Given the description of an element on the screen output the (x, y) to click on. 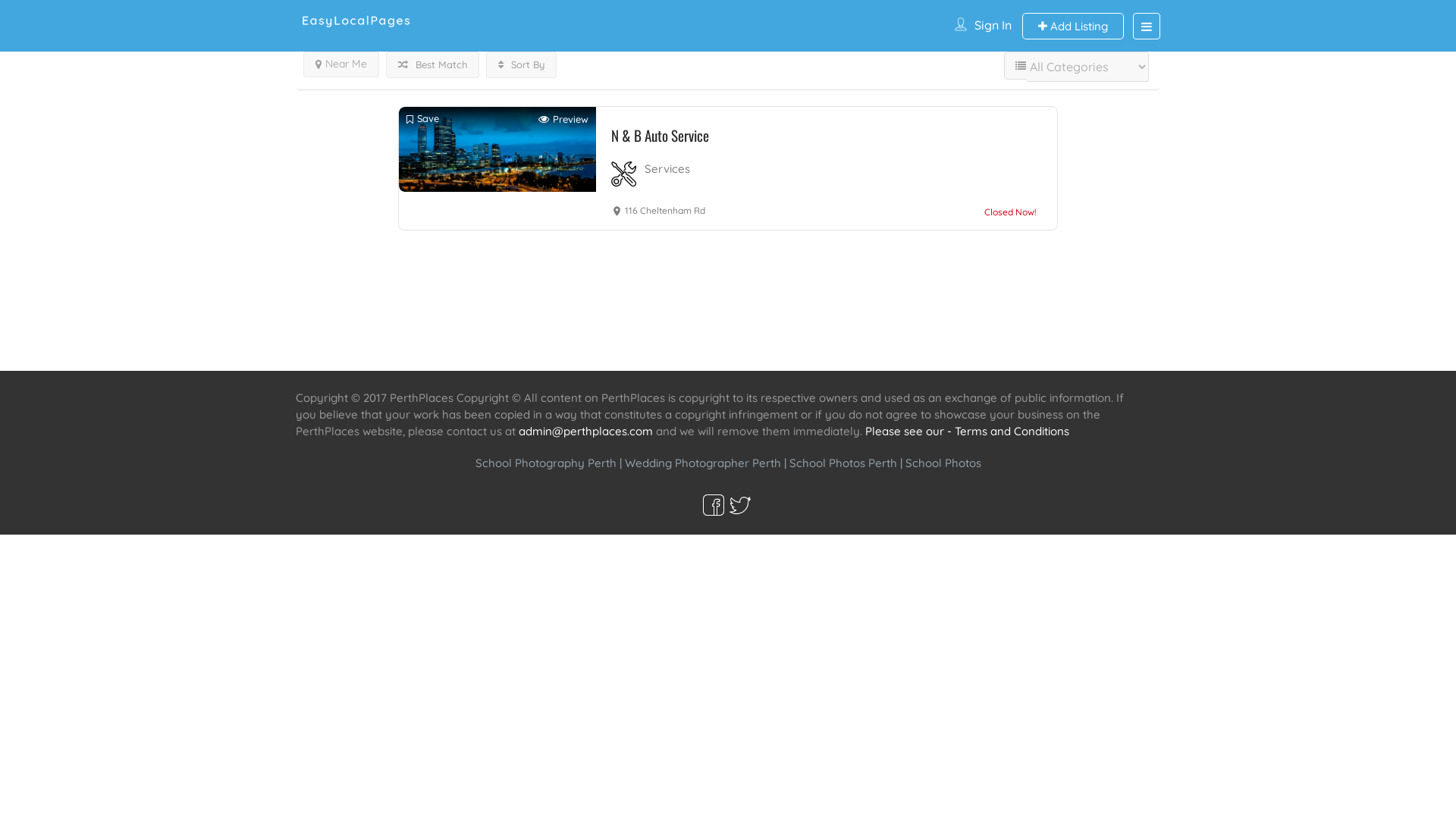
Services Element type: text (649, 342)
Scenic Spots Element type: text (728, 342)
Preview Element type: text (563, 118)
Home Element type: text (586, 342)
Shop Element type: text (850, 342)
Save Element type: text (422, 118)
School Photography Perth Element type: text (544, 462)
Best Match Element type: text (432, 64)
Wedding Photographer Perth Element type: text (702, 462)
School Photos Element type: text (943, 462)
Add Listing Element type: text (1072, 25)
School Photos Perth Element type: text (842, 462)
Services Element type: text (667, 168)
Sort By Element type: text (521, 64)
Near Me Element type: text (341, 64)
admin@perthplaces.com Element type: text (585, 430)
N & B Auto Service Element type: text (758, 135)
Please see our - Terms and Conditions Element type: text (967, 430)
Closed Now! Element type: text (1010, 209)
Sign In Element type: text (992, 24)
